Given the description of an element on the screen output the (x, y) to click on. 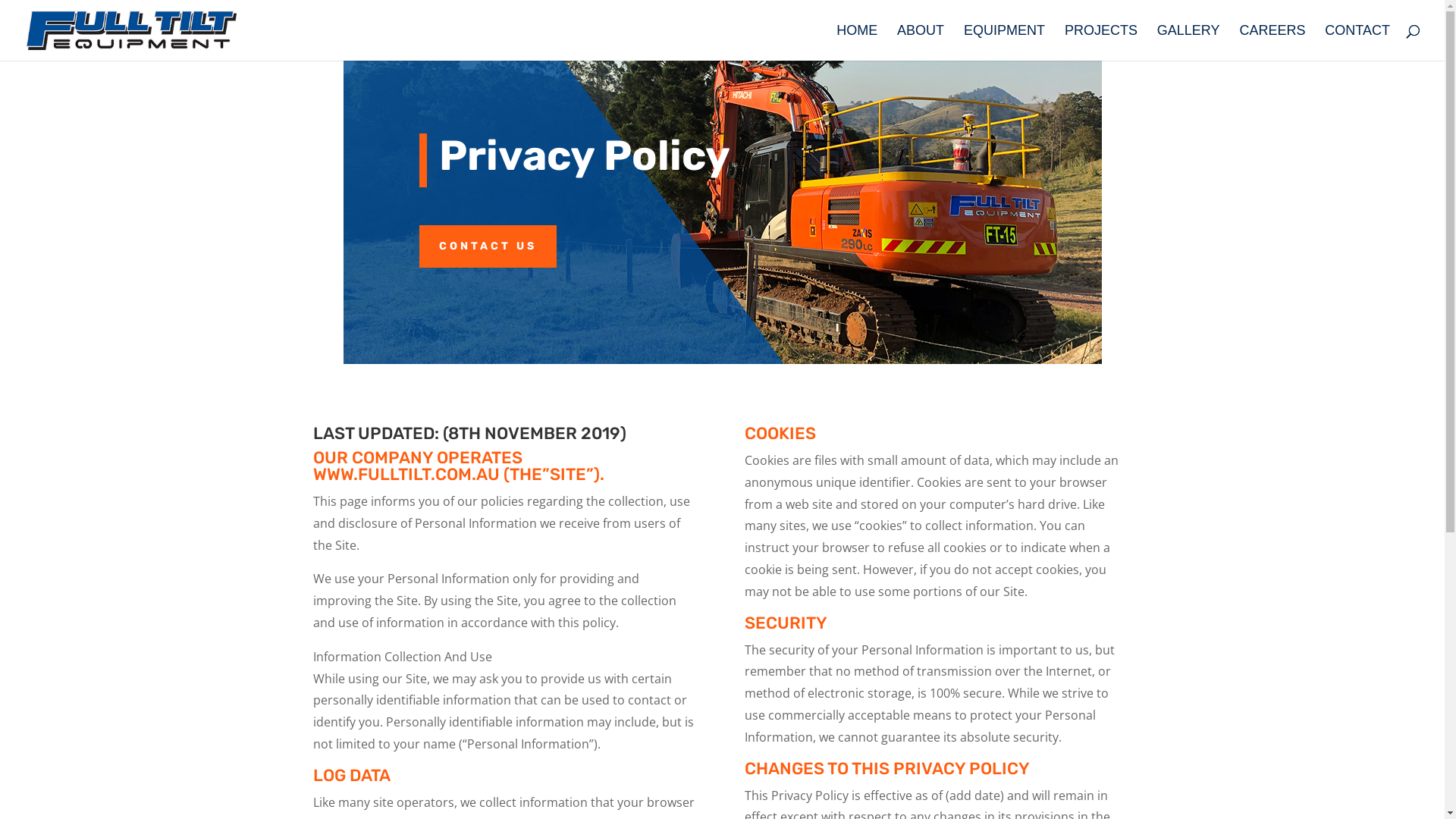
CONTACT Element type: text (1357, 42)
CAREERS Element type: text (1272, 42)
PROJECTS Element type: text (1100, 42)
CONTACT US Element type: text (486, 245)
EQUIPMENT Element type: text (1003, 42)
ABOUT Element type: text (920, 42)
HOME Element type: text (856, 42)
GALLERY Element type: text (1188, 42)
